Given the description of an element on the screen output the (x, y) to click on. 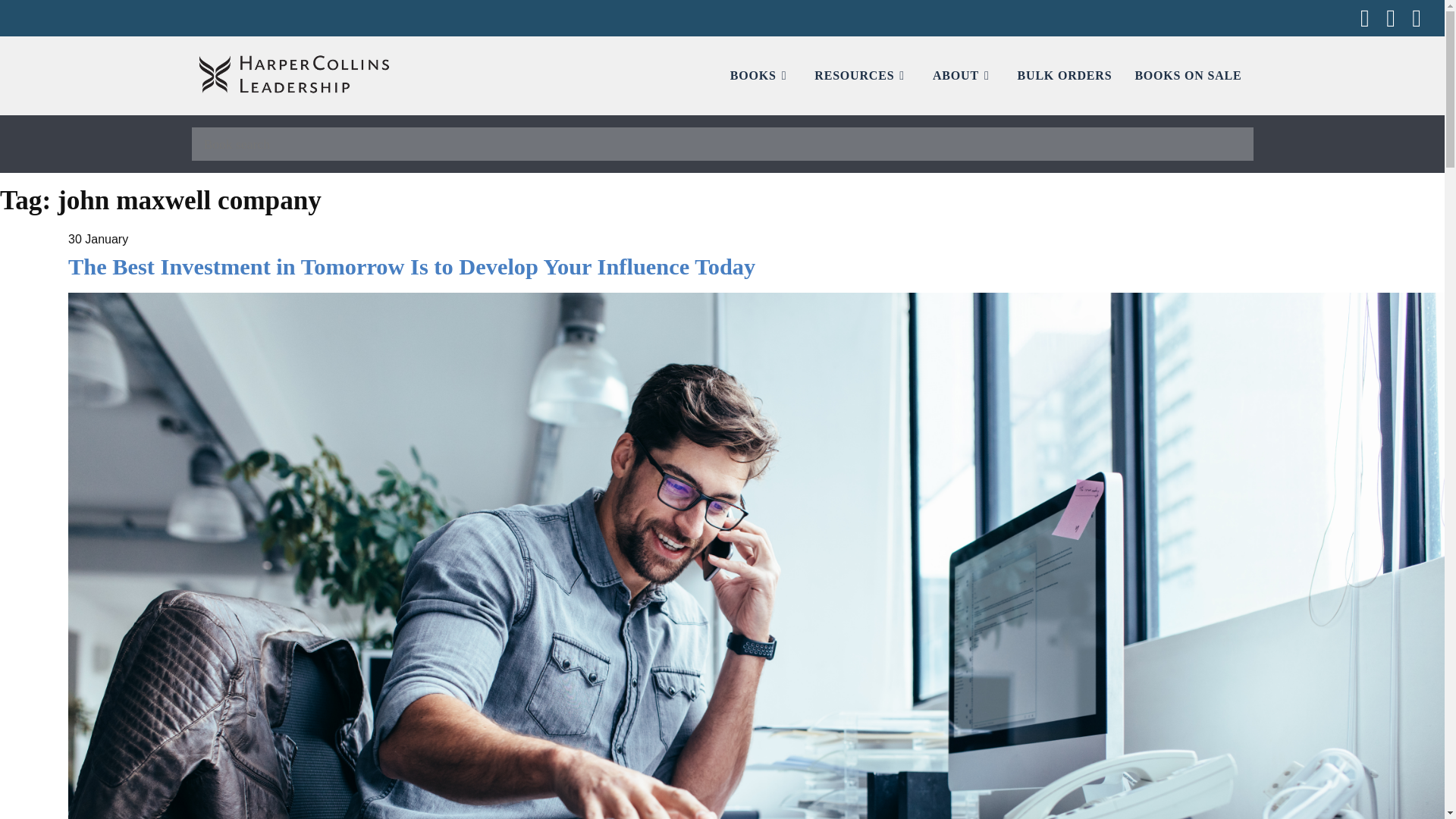
BOOKS (761, 75)
Book search: (721, 143)
ABOUT (963, 75)
BULK ORDERS (1065, 75)
RESOURCES (862, 75)
BOOKS ON SALE (1187, 75)
